Given the description of an element on the screen output the (x, y) to click on. 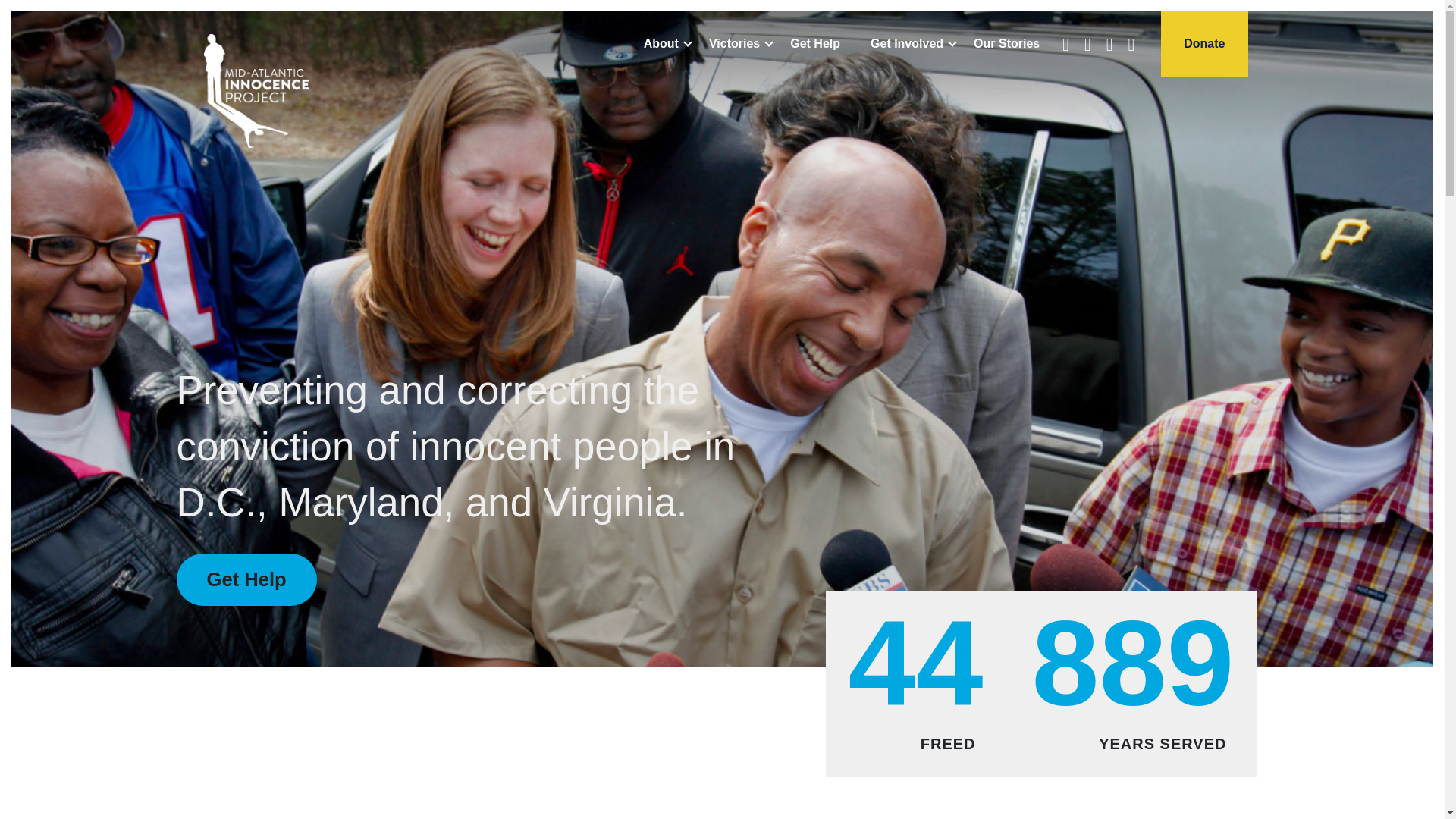
Get Involved (907, 43)
Victories (734, 43)
Get Help (814, 43)
Donate (1203, 43)
Our Stories (1006, 43)
Get Help (245, 579)
